Given the description of an element on the screen output the (x, y) to click on. 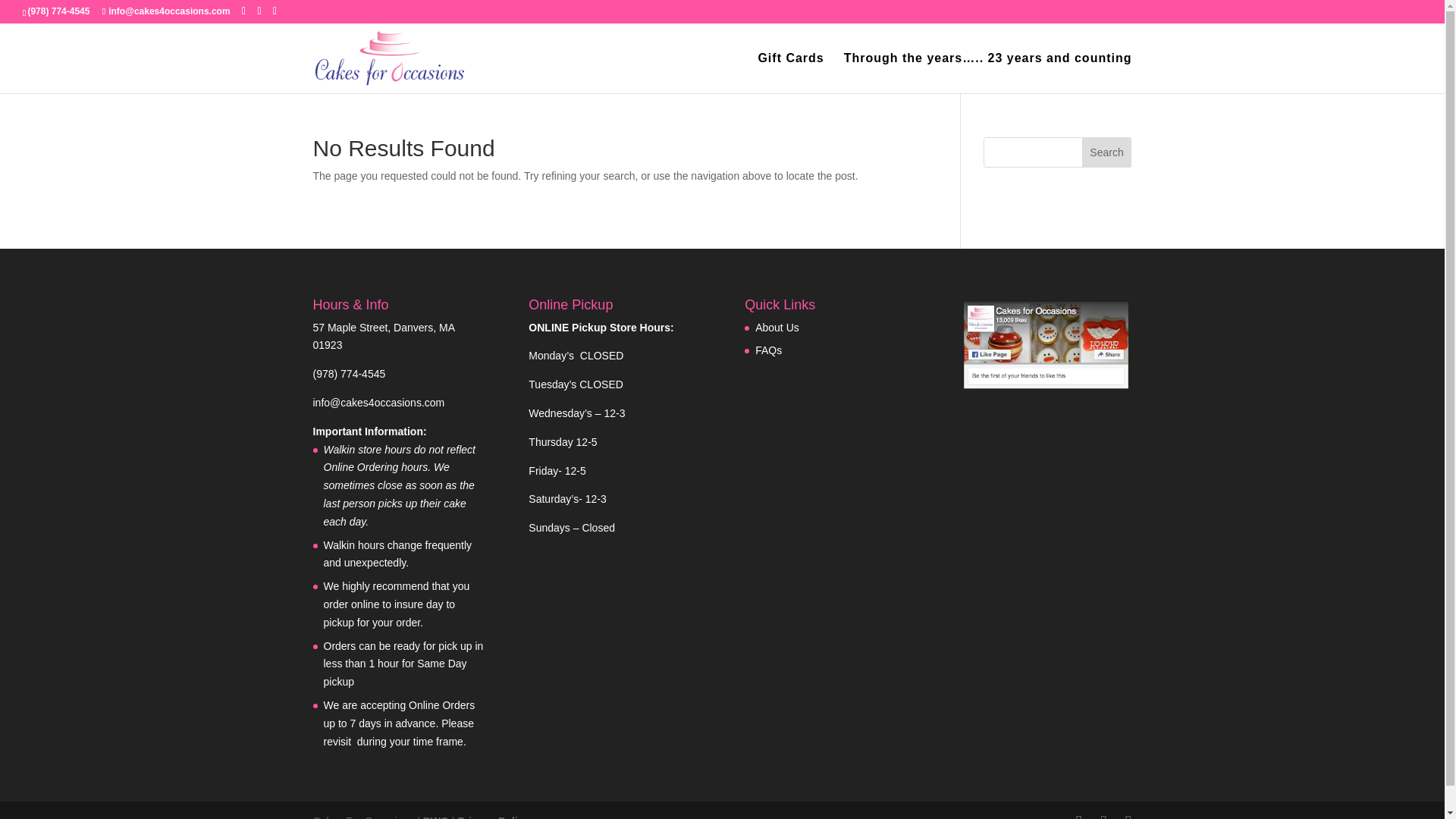
BWG (435, 816)
Search (1106, 152)
About Us (777, 327)
Gift Cards (790, 73)
Search (1106, 152)
FAQs (768, 349)
Privacy Policy (493, 816)
